Given the description of an element on the screen output the (x, y) to click on. 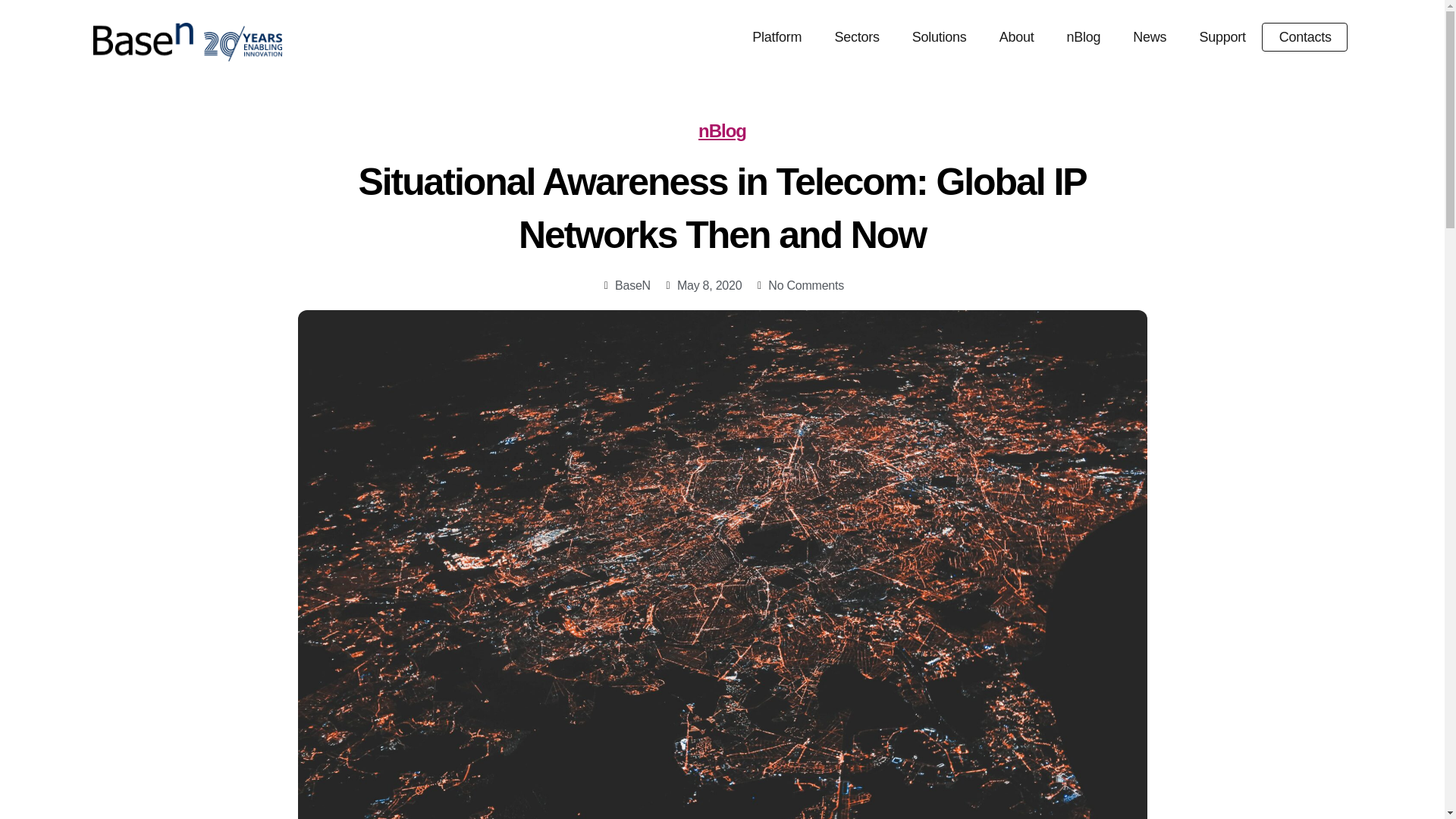
Contacts (1304, 36)
nBlog (1083, 36)
Solutions (938, 36)
Platform (776, 36)
News (1149, 36)
Support (1221, 36)
Sectors (855, 36)
About (1016, 36)
